Given the description of an element on the screen output the (x, y) to click on. 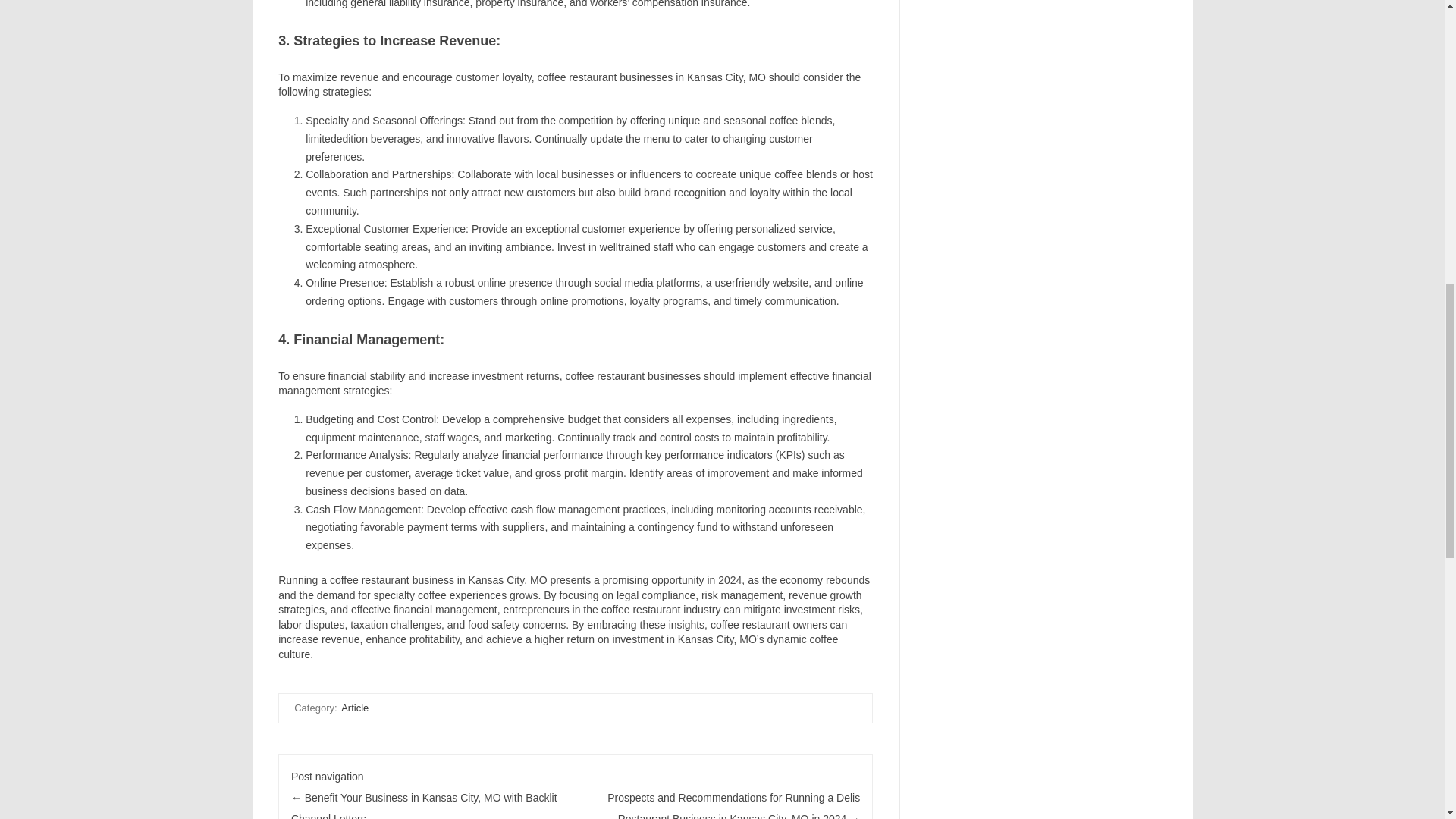
Article (354, 707)
